Given the description of an element on the screen output the (x, y) to click on. 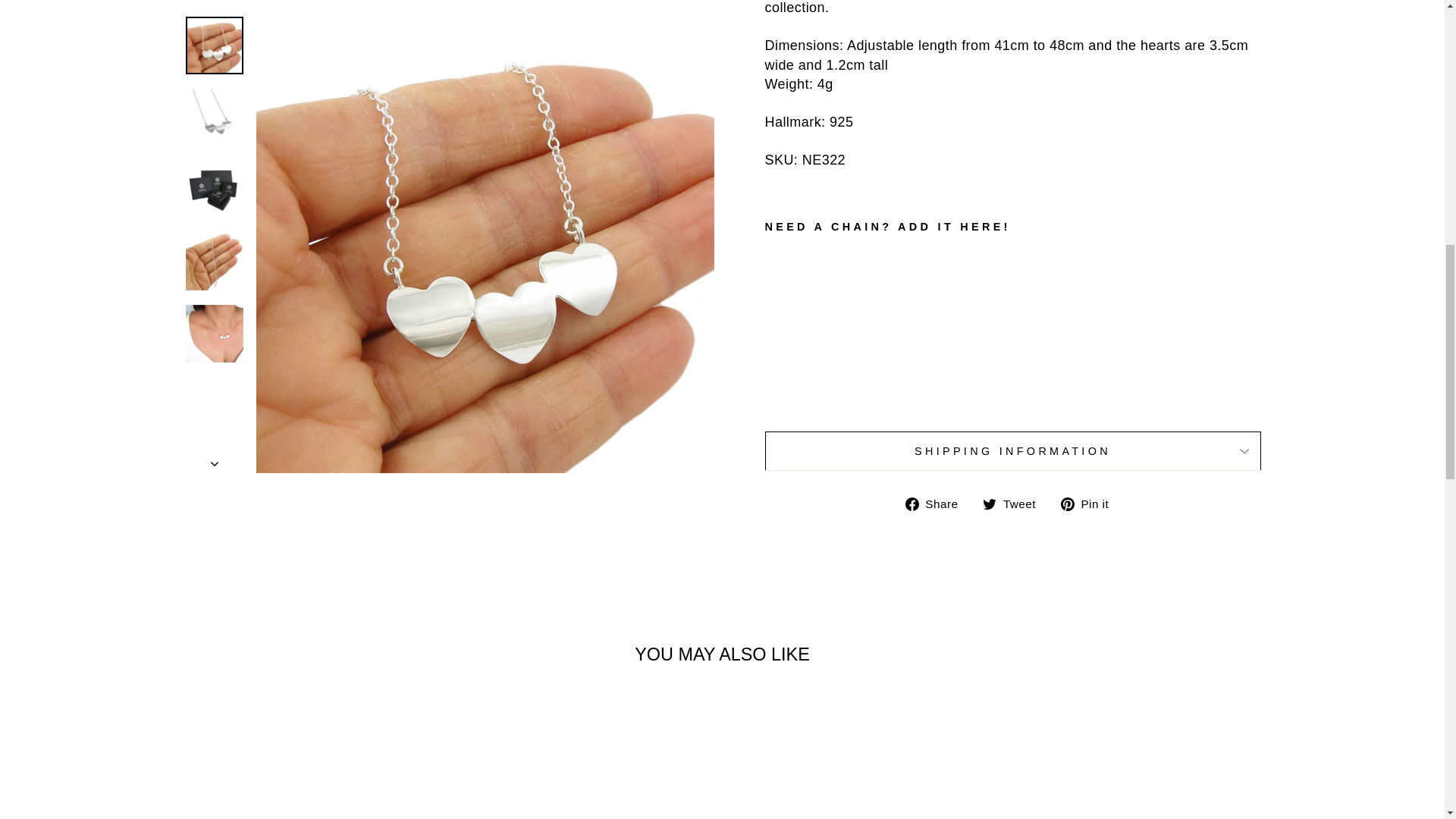
twitter (988, 504)
Tweet on Twitter (1014, 502)
Share on Facebook (937, 502)
Pin on Pinterest (1090, 502)
